Given the description of an element on the screen output the (x, y) to click on. 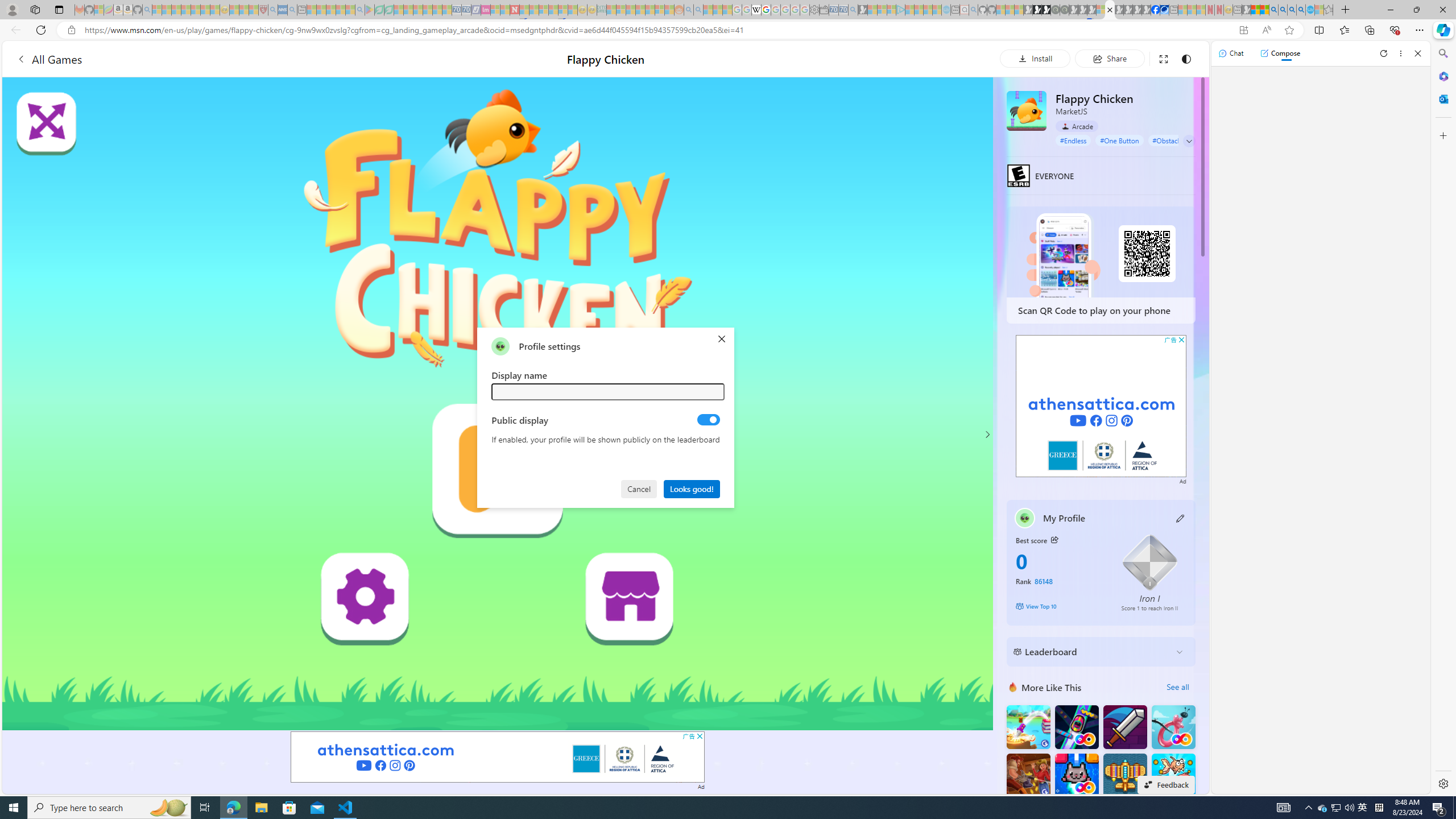
Bluey: Let's Play! - Apps on Google Play - Sleeping (369, 9)
Local - MSN - Sleeping (253, 9)
MSN - Sleeping (1246, 9)
#Obstacle Course (1178, 140)
Looks good! (691, 488)
Jobs - lastminute.com Investor Portal - Sleeping (485, 9)
